Given the description of an element on the screen output the (x, y) to click on. 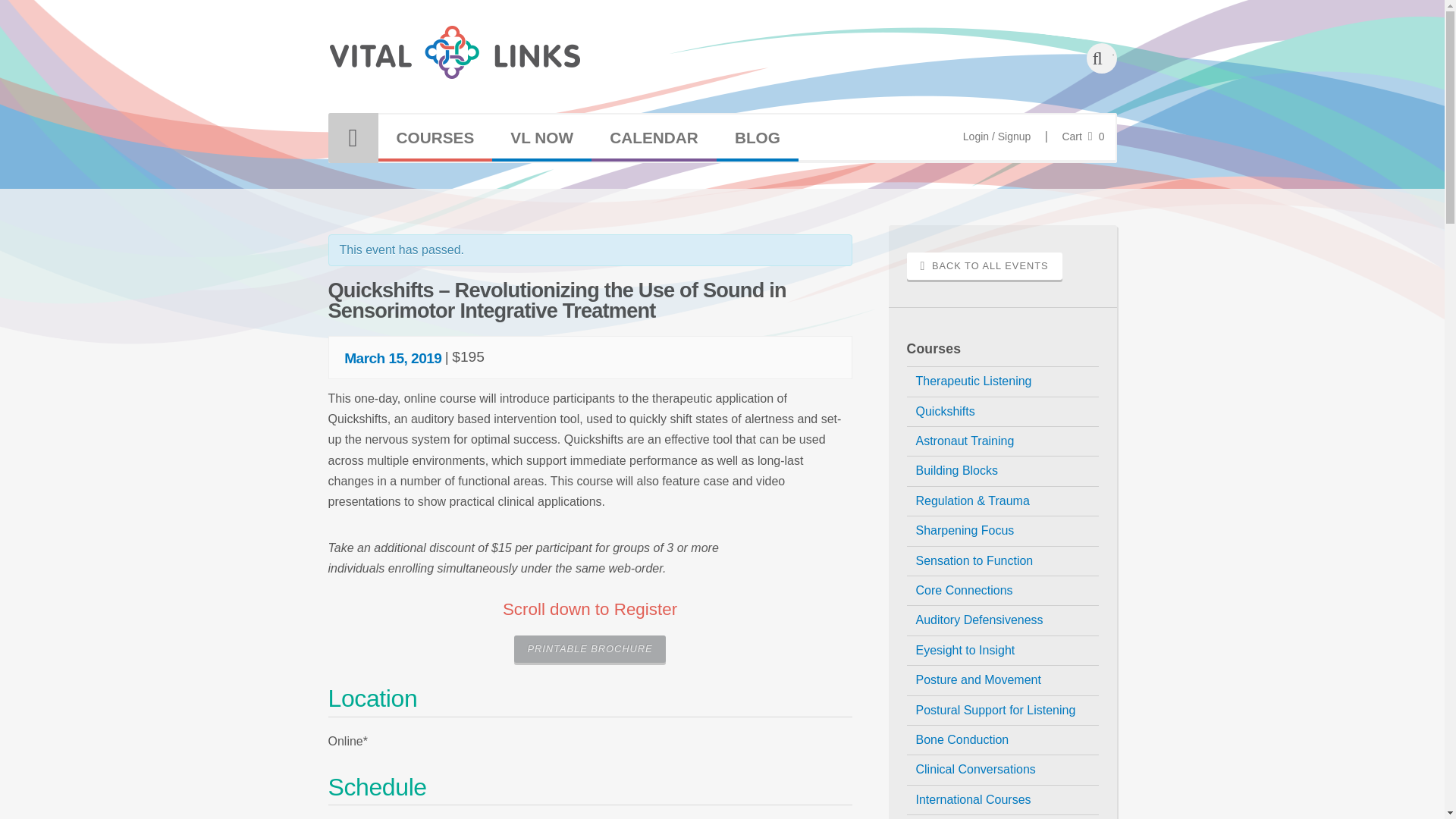
Event Registration (653, 137)
Courses by Vital Links (434, 137)
BLOG (756, 137)
CALENDAR (653, 137)
VL NOW (541, 137)
0 items (1082, 136)
Cart0 (1082, 136)
COURSES (434, 137)
